Given the description of an element on the screen output the (x, y) to click on. 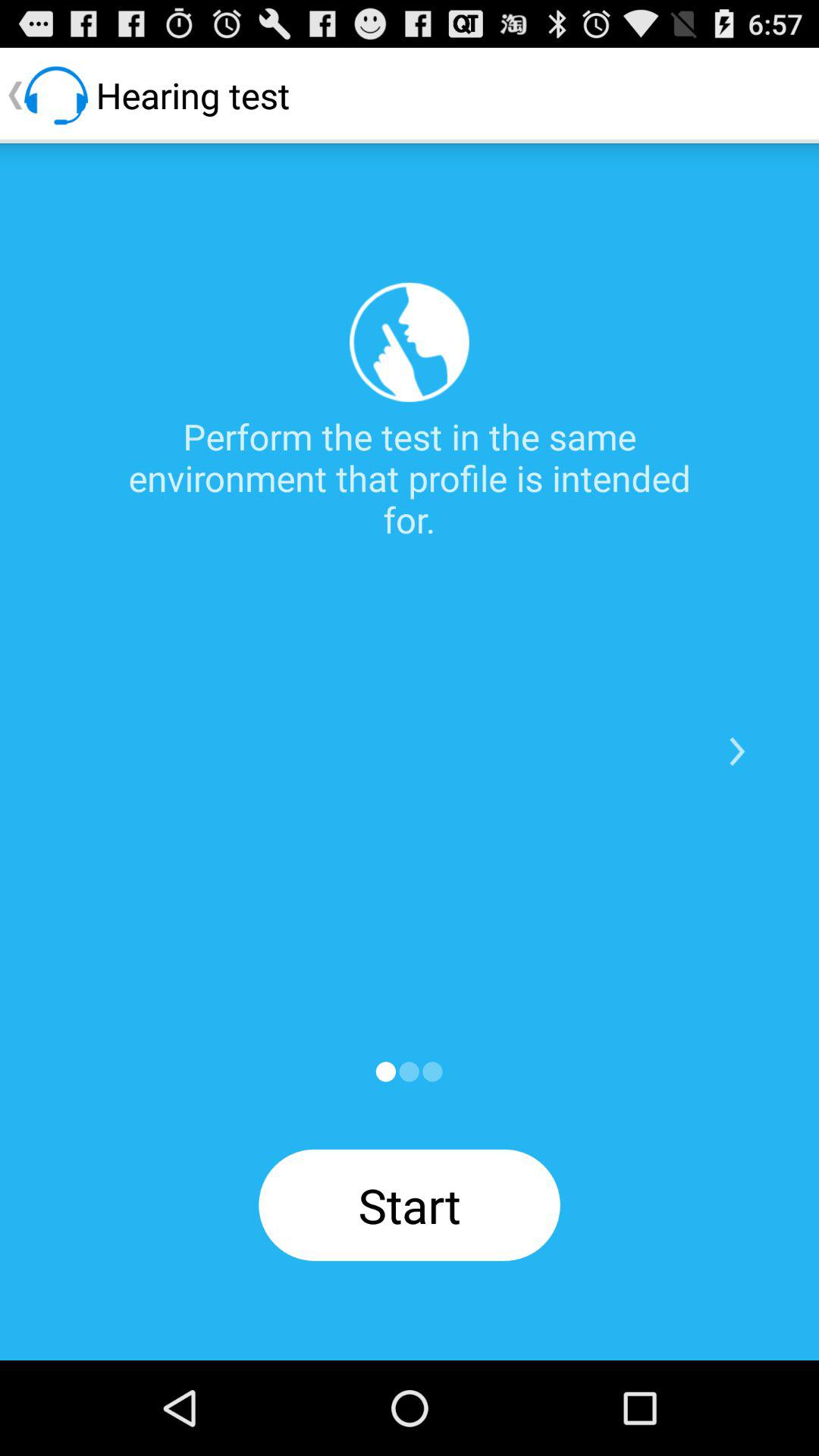
next button (737, 751)
